Given the description of an element on the screen output the (x, y) to click on. 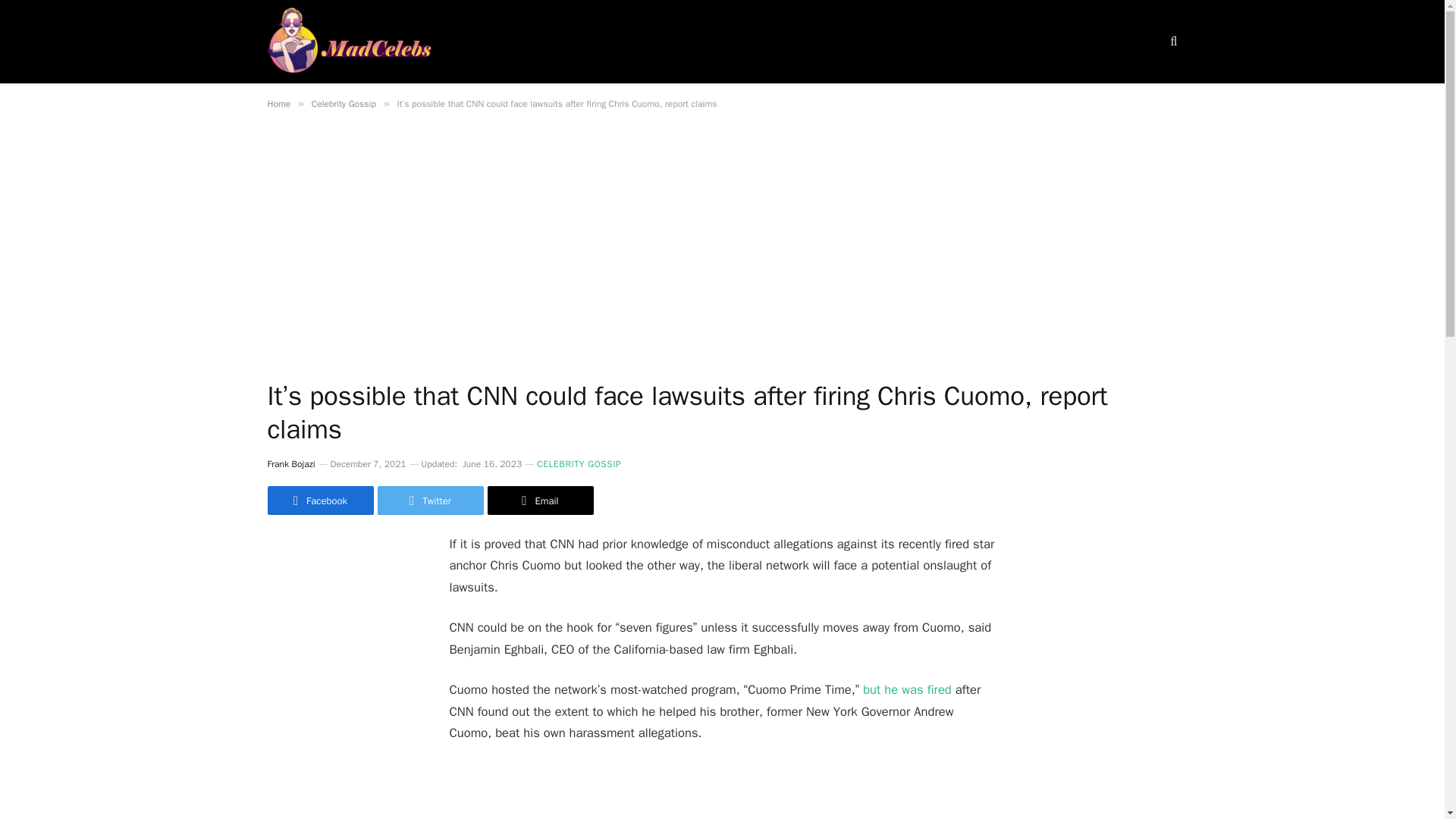
Mad Celebs (348, 41)
but he was fired (907, 689)
CELEBRITY GOSSIP (579, 463)
Frank Bojazi (290, 463)
Celebrity Gossip (343, 103)
Facebook (319, 500)
Share via Email (539, 500)
Email (539, 500)
CNN fires Chris Cuomo (721, 791)
